Given the description of an element on the screen output the (x, y) to click on. 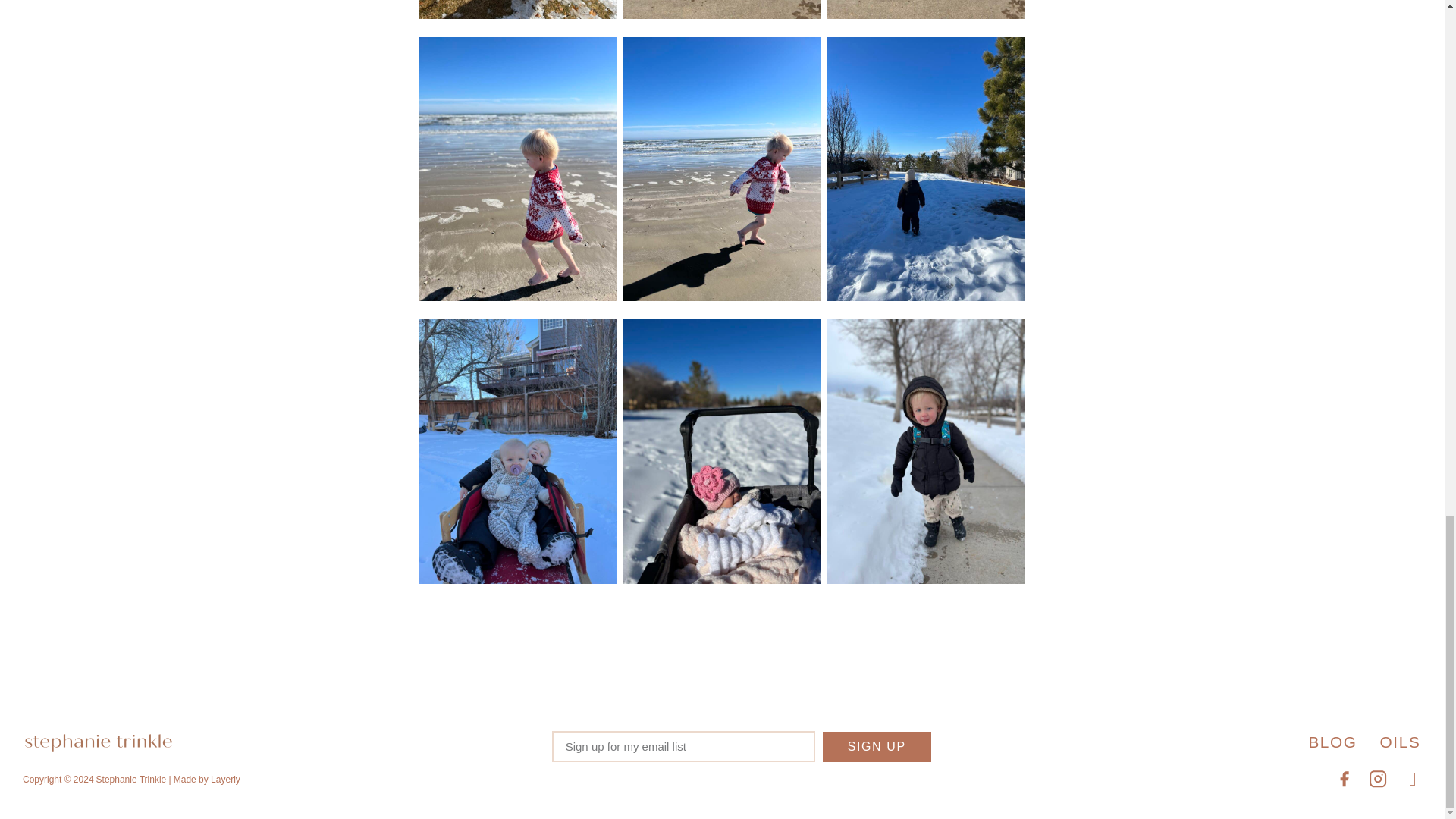
OILS (1400, 742)
SIGN UP (876, 747)
Made by Layerly (206, 779)
BLOG (1331, 742)
